Given the description of an element on the screen output the (x, y) to click on. 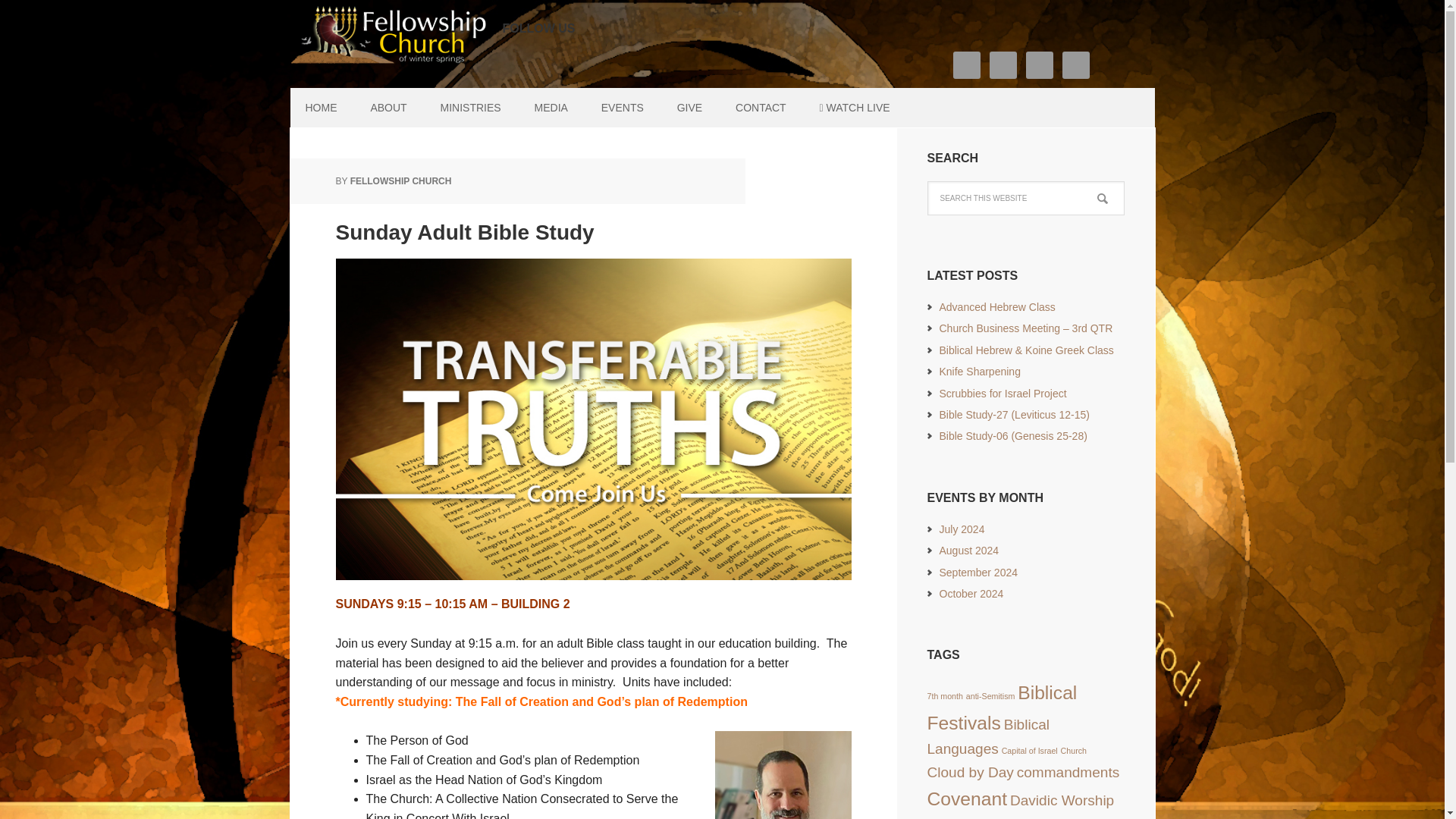
HOME (320, 107)
ABOUT (388, 107)
MINISTRIES (470, 107)
Fellowship Church of Winter Springs (387, 38)
EVENTS (622, 107)
GIVE (689, 107)
CONTACT (761, 107)
MEDIA (551, 107)
